Given the description of an element on the screen output the (x, y) to click on. 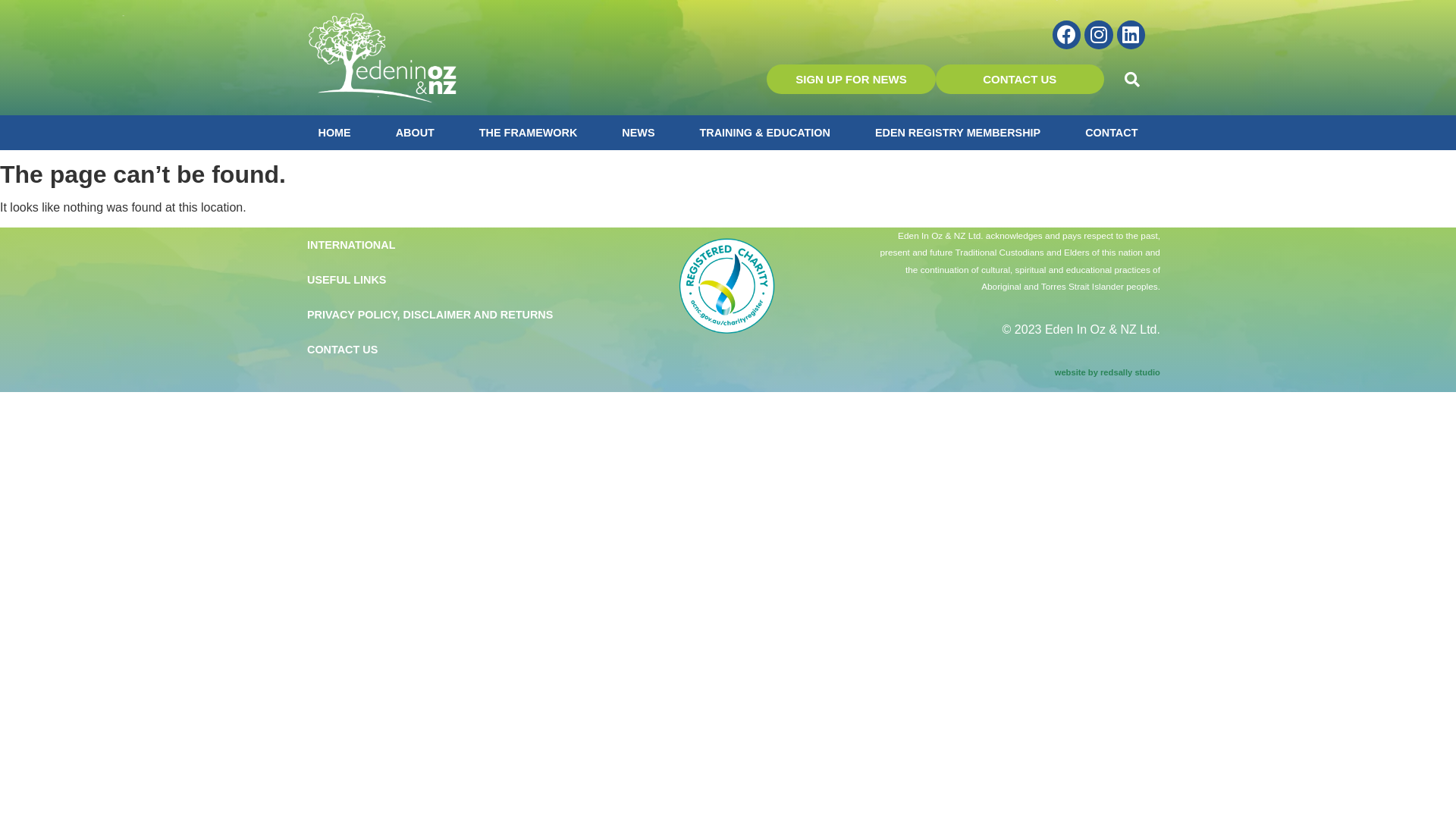
website by redsally studio Element type: text (1107, 371)
HOME Element type: text (334, 132)
EDEN REGISTRY MEMBERSHIP Element type: text (957, 132)
USEFUL LINKS Element type: text (439, 279)
NEWS Element type: text (638, 132)
CONTACT US Element type: text (1019, 79)
PRIVACY POLICY, DISCLAIMER AND RETURNS Element type: text (439, 314)
THE FRAMEWORK Element type: text (527, 132)
SIGN UP FOR NEWS Element type: text (850, 79)
TRAINING & EDUCATION Element type: text (764, 132)
ABOUT Element type: text (414, 132)
INTERNATIONAL Element type: text (439, 244)
CONTACT Element type: text (1111, 132)
CONTACT US Element type: text (439, 349)
